Given the description of an element on the screen output the (x, y) to click on. 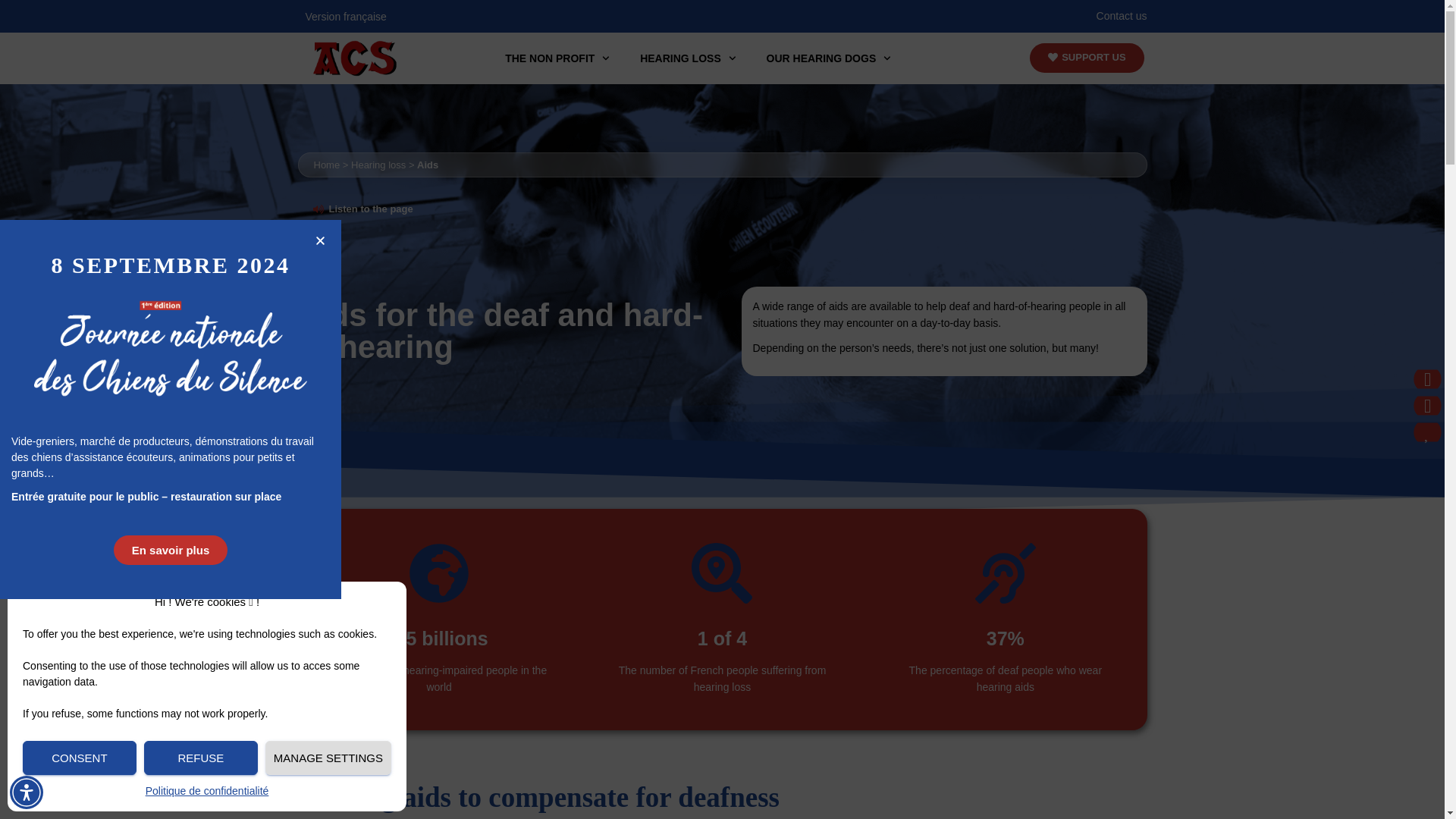
HEARING LOSS (687, 58)
Contact us (1121, 15)
Accessibility Menu (26, 792)
Home (327, 164)
OUR HEARING DOGS (828, 58)
CONSENT (79, 757)
THE NON PROFIT (556, 58)
Hearing loss (378, 164)
REFUSE (200, 757)
MANAGE SETTINGS (327, 757)
